Given the description of an element on the screen output the (x, y) to click on. 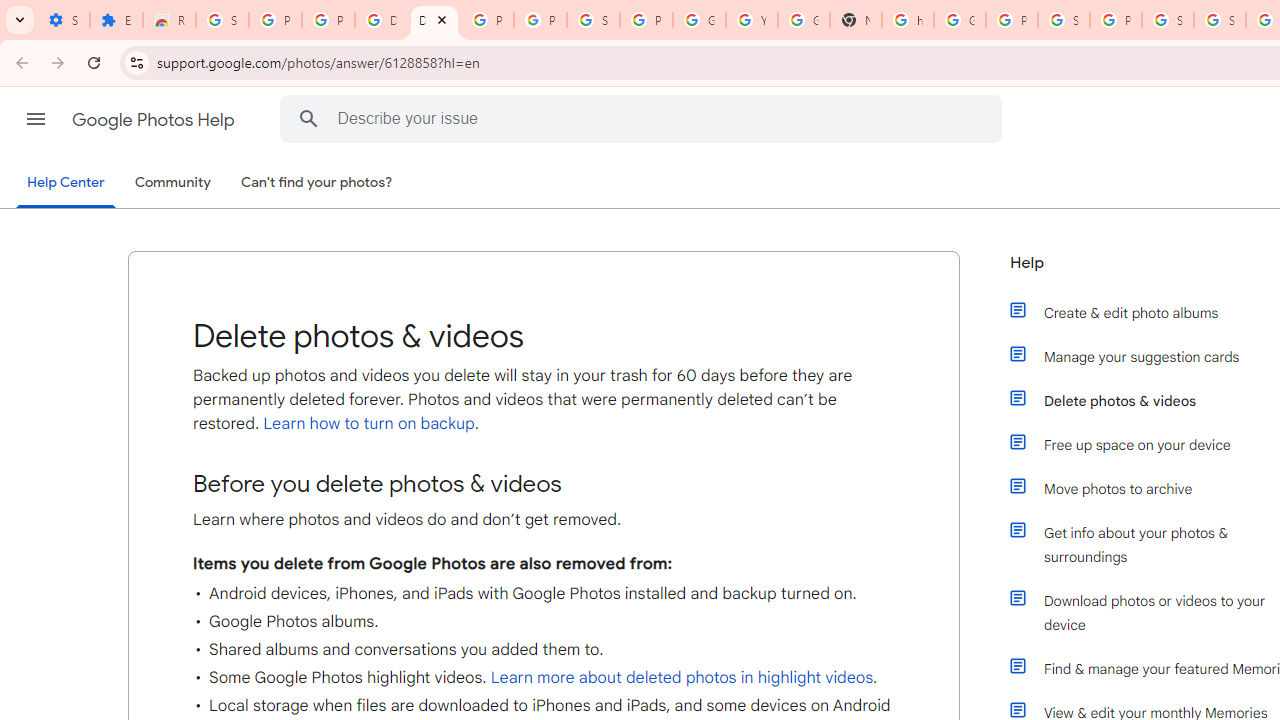
Search Help Center (309, 118)
New Tab (855, 20)
Learn more about deleted photos in highlight videos (682, 678)
Reviews: Helix Fruit Jump Arcade Game (169, 20)
Settings - On startup (63, 20)
Community (171, 183)
 Learn how to turn on backup (366, 423)
Describe your issue (644, 118)
Can't find your photos? (317, 183)
YouTube (751, 20)
